Given the description of an element on the screen output the (x, y) to click on. 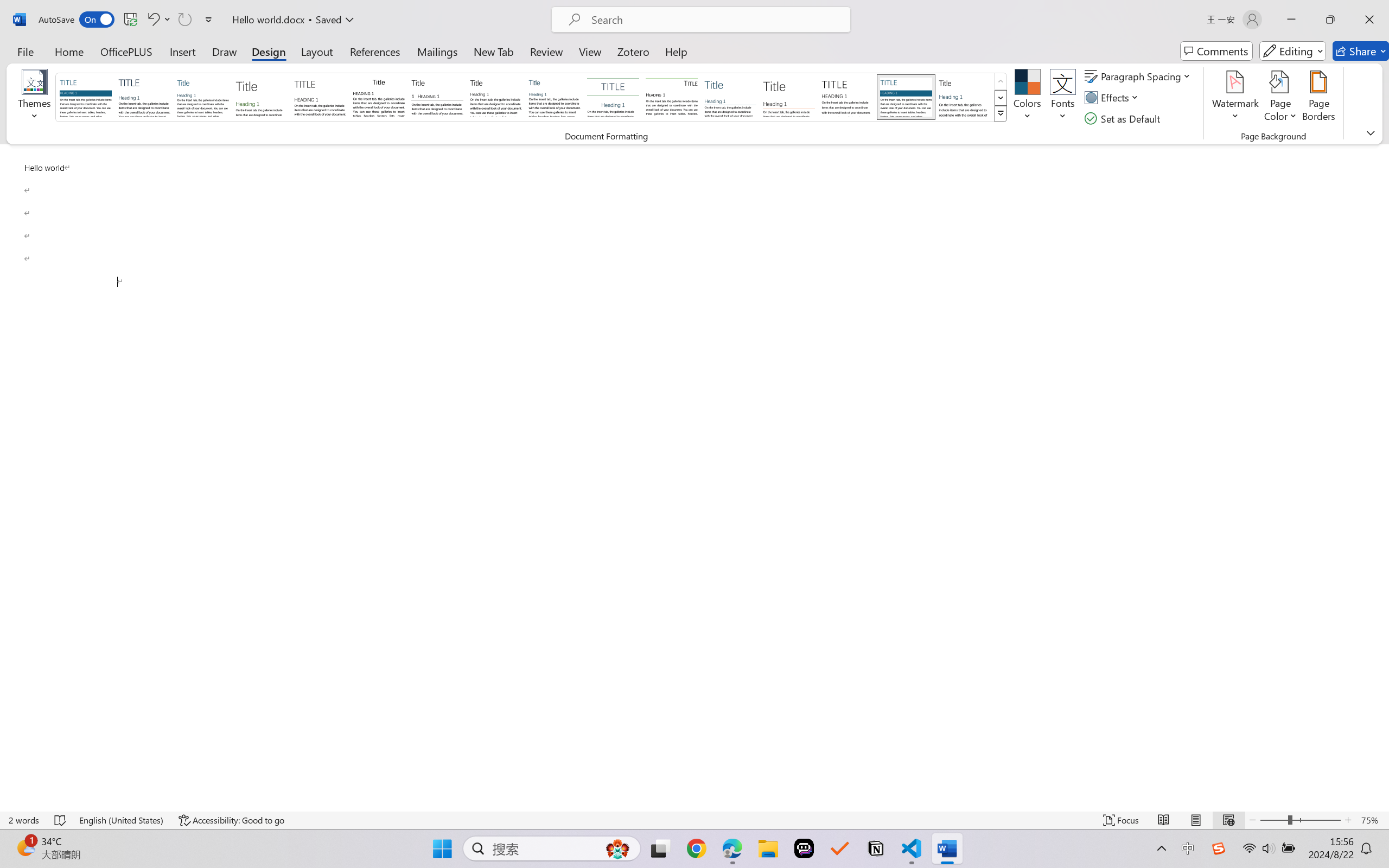
Document (85, 96)
Centered (612, 96)
Microsoft search (715, 19)
Class: MsoCommandBar (694, 819)
Black & White (Capitalized) (320, 96)
Black & White (Word 2013) (495, 96)
Editing (1292, 50)
Zoom In (1348, 819)
Zotero (632, 51)
Restore Down (1330, 19)
Lines (Simple) (730, 96)
Class: Image (1218, 847)
